Given the description of an element on the screen output the (x, y) to click on. 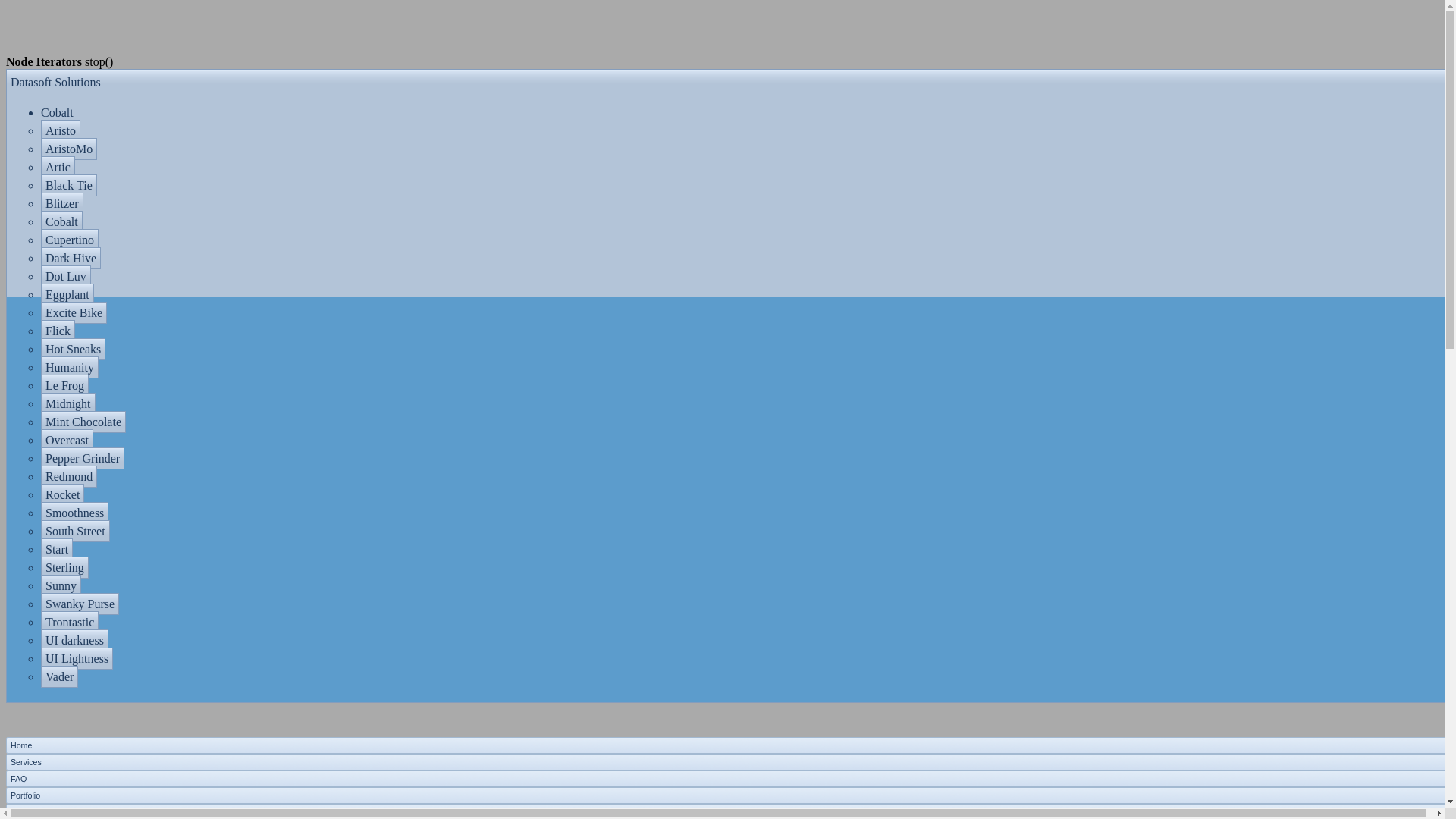
Hot Sneaks (72, 349)
Start (56, 549)
UI Lightness (76, 658)
AristoMo (68, 148)
Home (21, 745)
Portfolio (25, 795)
Overcast (66, 440)
Trontastic (69, 621)
Blitzer (61, 203)
Smoothness (73, 513)
